Given the description of an element on the screen output the (x, y) to click on. 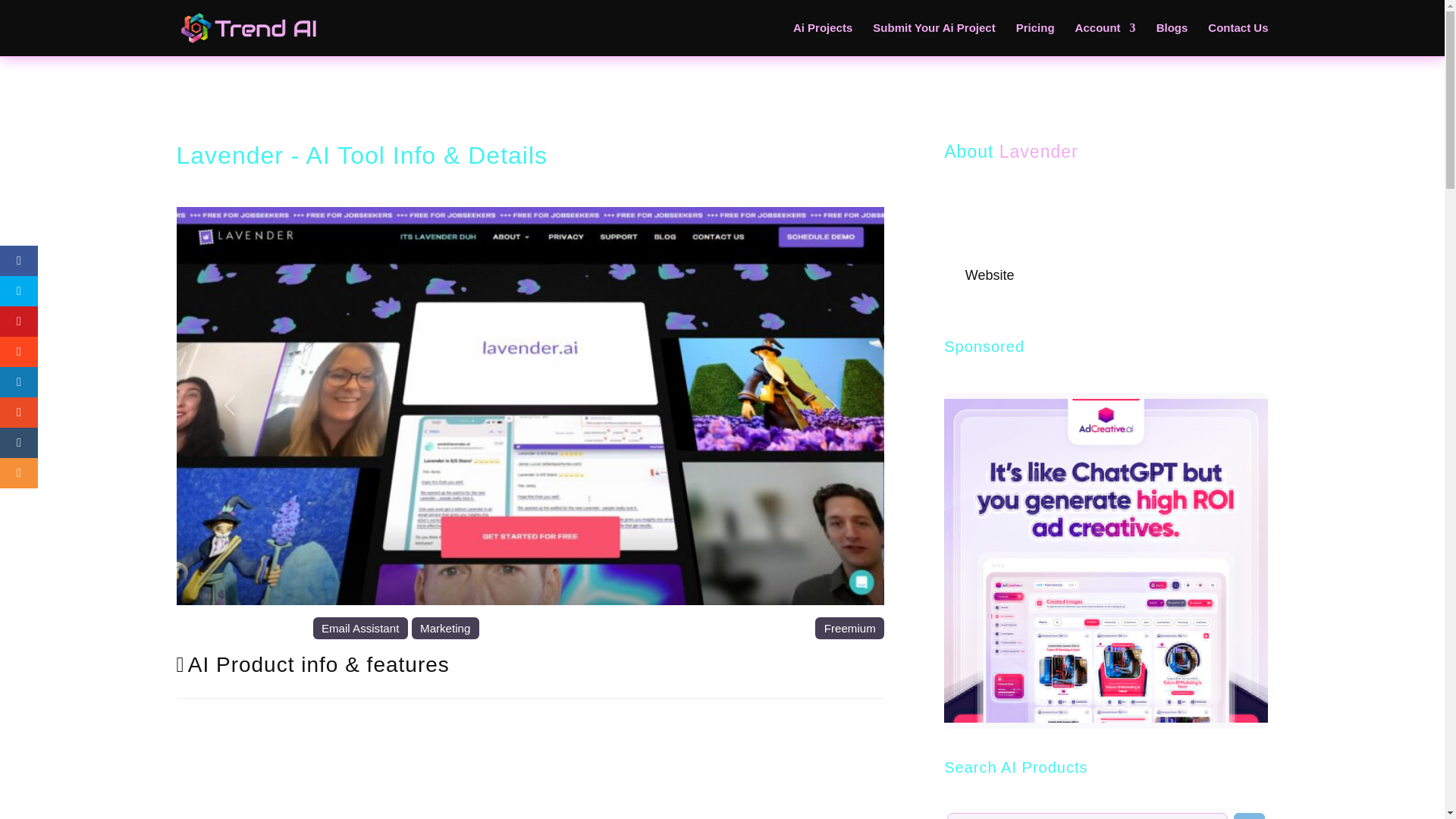
Submit Your Ai Project (933, 39)
Email Assistant (360, 627)
Blogs (1172, 39)
Account (1105, 39)
Website (989, 274)
Freemium (849, 627)
Marketing (445, 627)
Contact Us (1238, 39)
Pricing (1035, 39)
Ai Projects (822, 39)
Search (1249, 816)
Add to Favorites (973, 296)
